Given the description of an element on the screen output the (x, y) to click on. 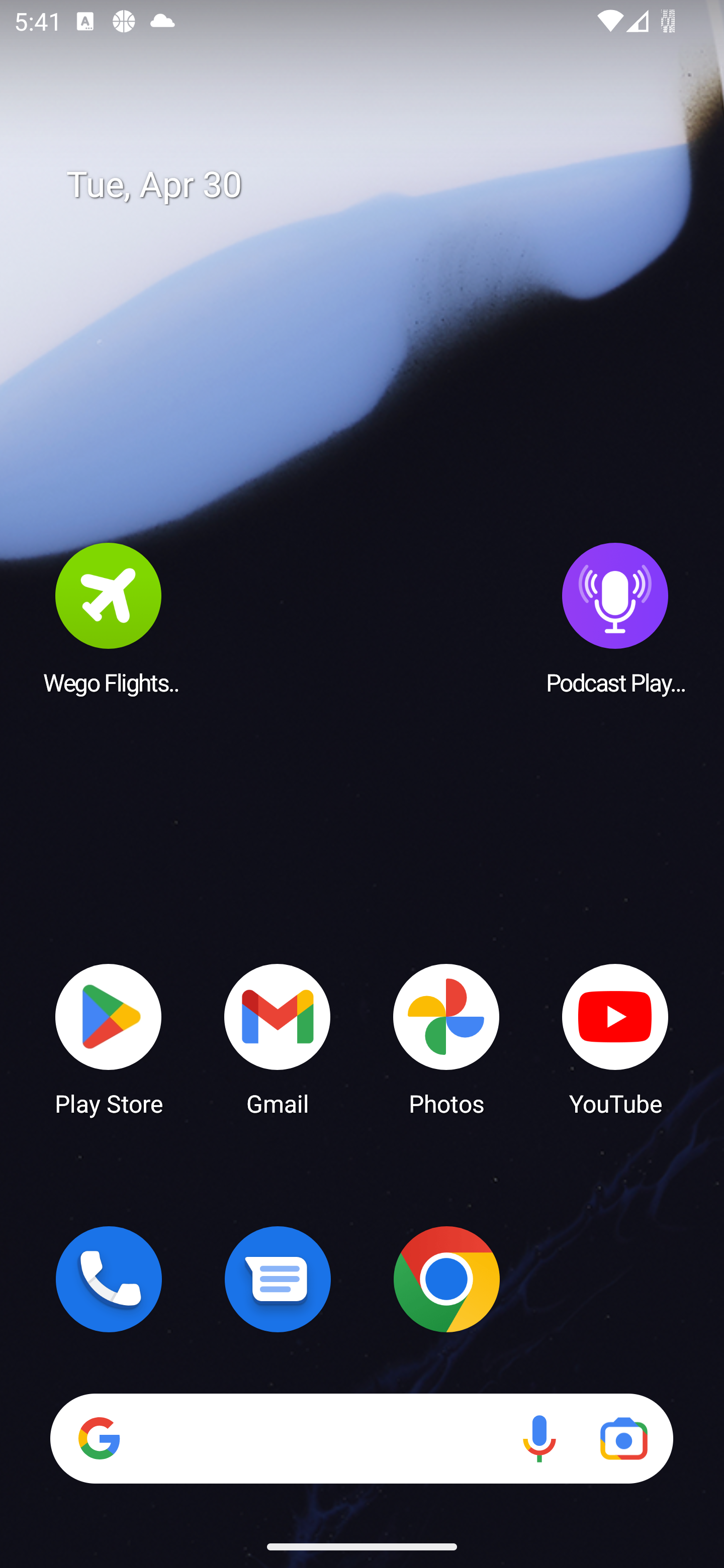
Tue, Apr 30 (375, 184)
Wego Flights & Hotels (108, 617)
Podcast Player (615, 617)
Play Store (108, 1038)
Gmail (277, 1038)
Photos (445, 1038)
YouTube (615, 1038)
Phone (108, 1279)
Messages (277, 1279)
Chrome (446, 1279)
Voice search (539, 1438)
Google Lens (623, 1438)
